Given the description of an element on the screen output the (x, y) to click on. 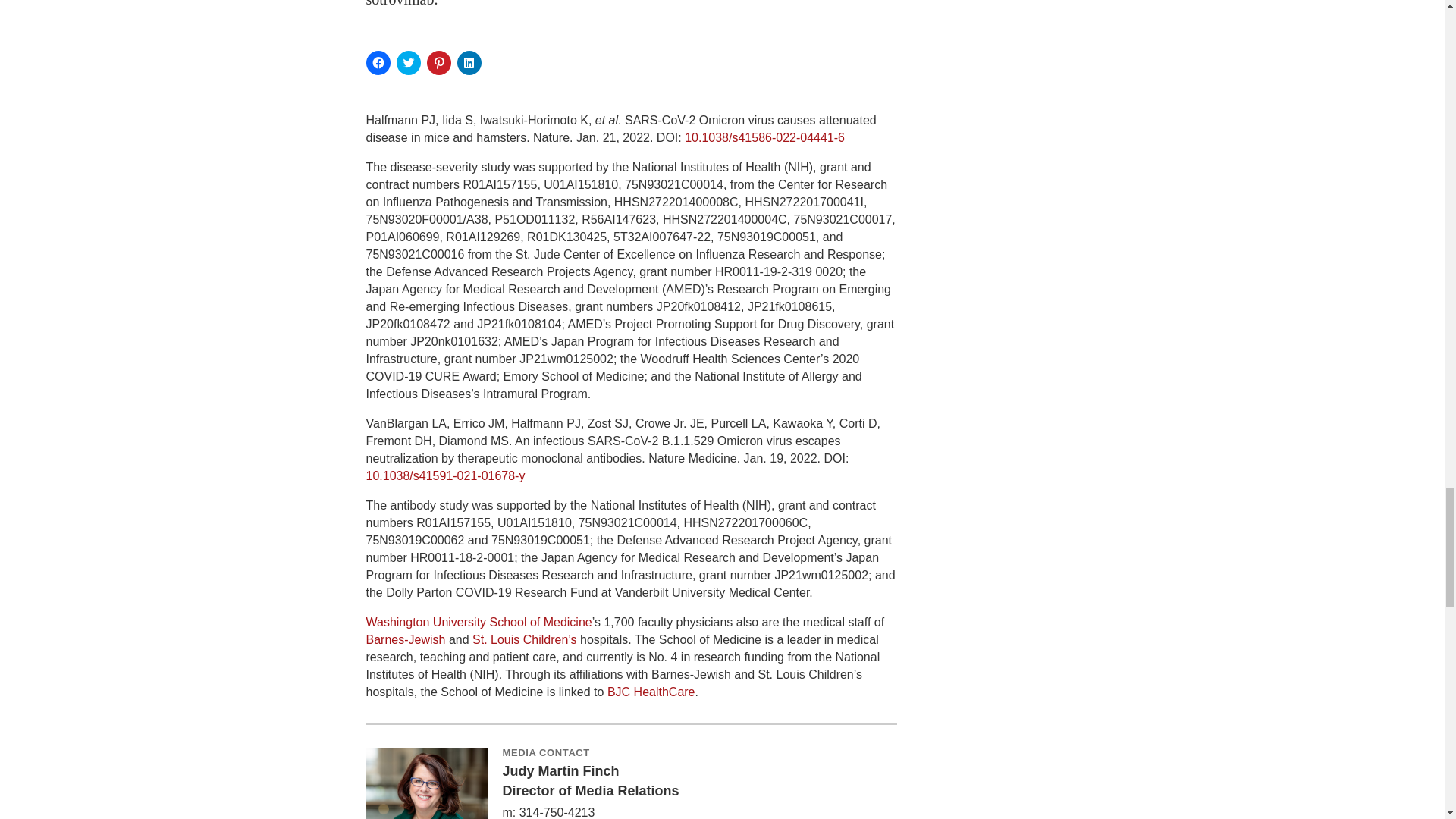
Click to share on LinkedIn (468, 62)
Click to share on Facebook (377, 62)
Click to share on Twitter (408, 62)
Click to share on Pinterest (437, 62)
